Given the description of an element on the screen output the (x, y) to click on. 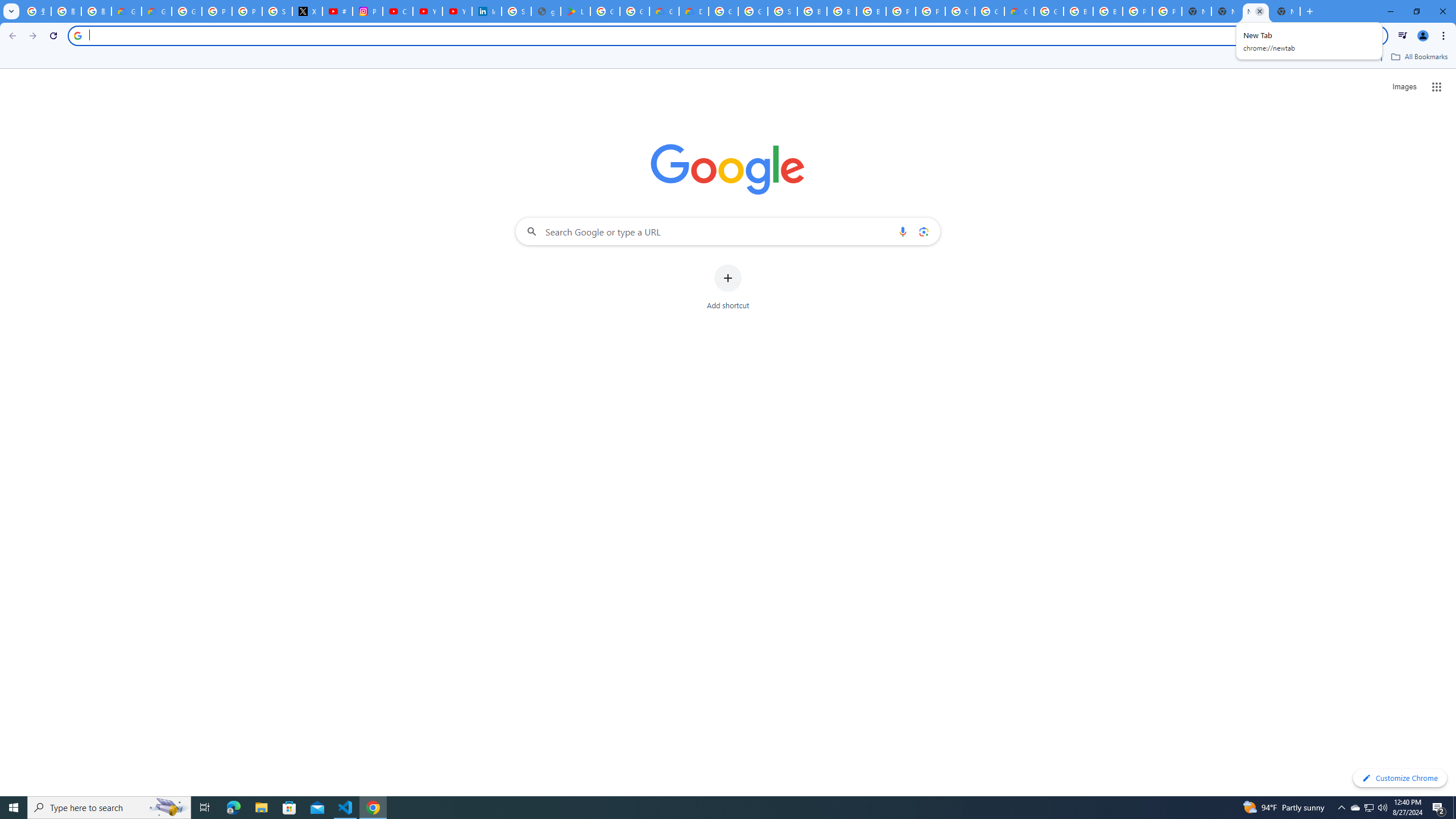
New Tab (1284, 11)
Browse Chrome as a guest - Computer - Google Chrome Help (811, 11)
Google Cloud Platform (959, 11)
Google Cloud Privacy Notice (126, 11)
